Given the description of an element on the screen output the (x, y) to click on. 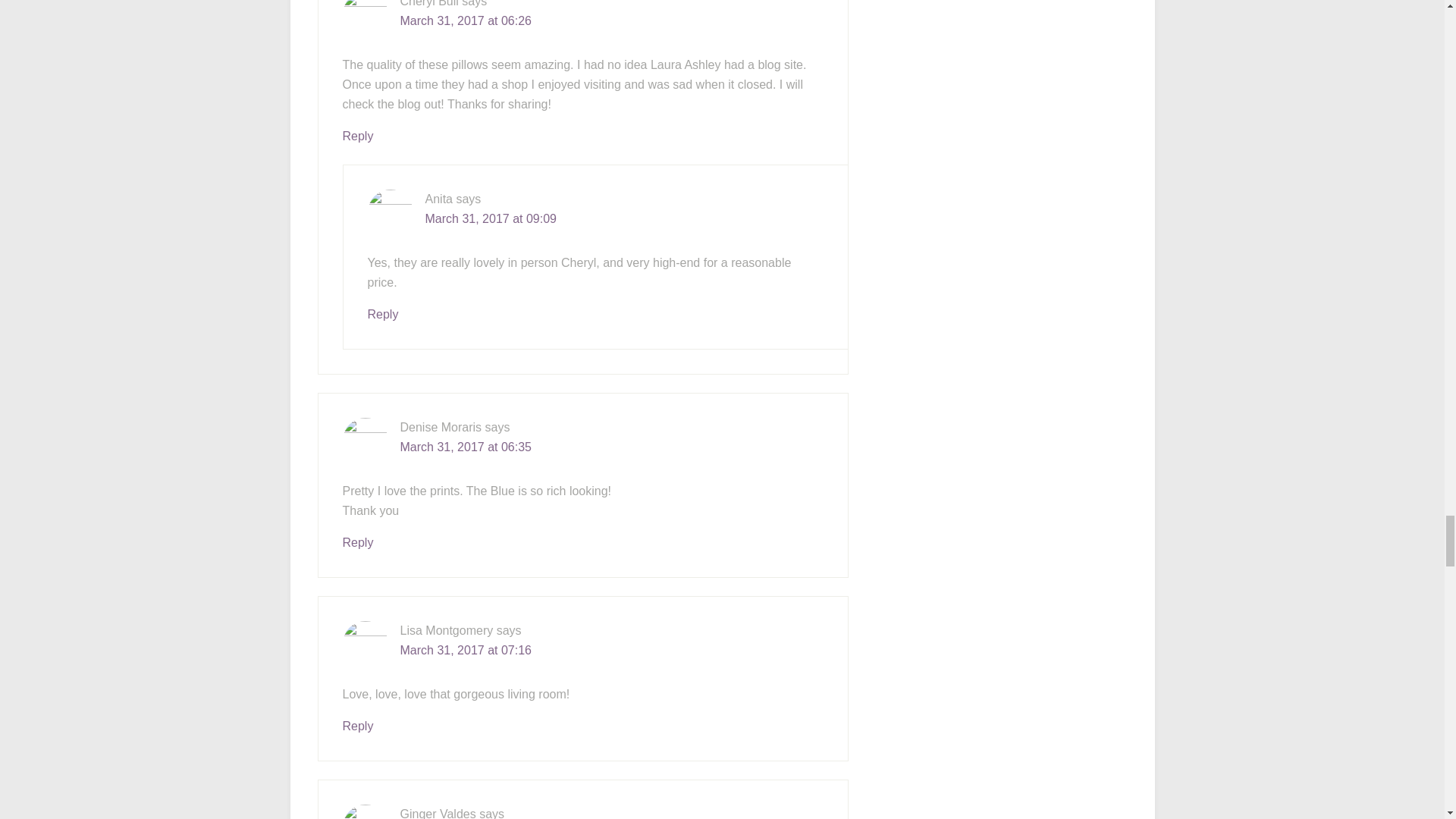
March 31, 2017 at 06:35 (465, 446)
Reply (358, 542)
Reply (358, 725)
Reply (381, 314)
March 31, 2017 at 06:26 (465, 20)
March 31, 2017 at 07:16 (465, 649)
Reply (358, 135)
March 31, 2017 at 09:09 (490, 218)
